Given the description of an element on the screen output the (x, y) to click on. 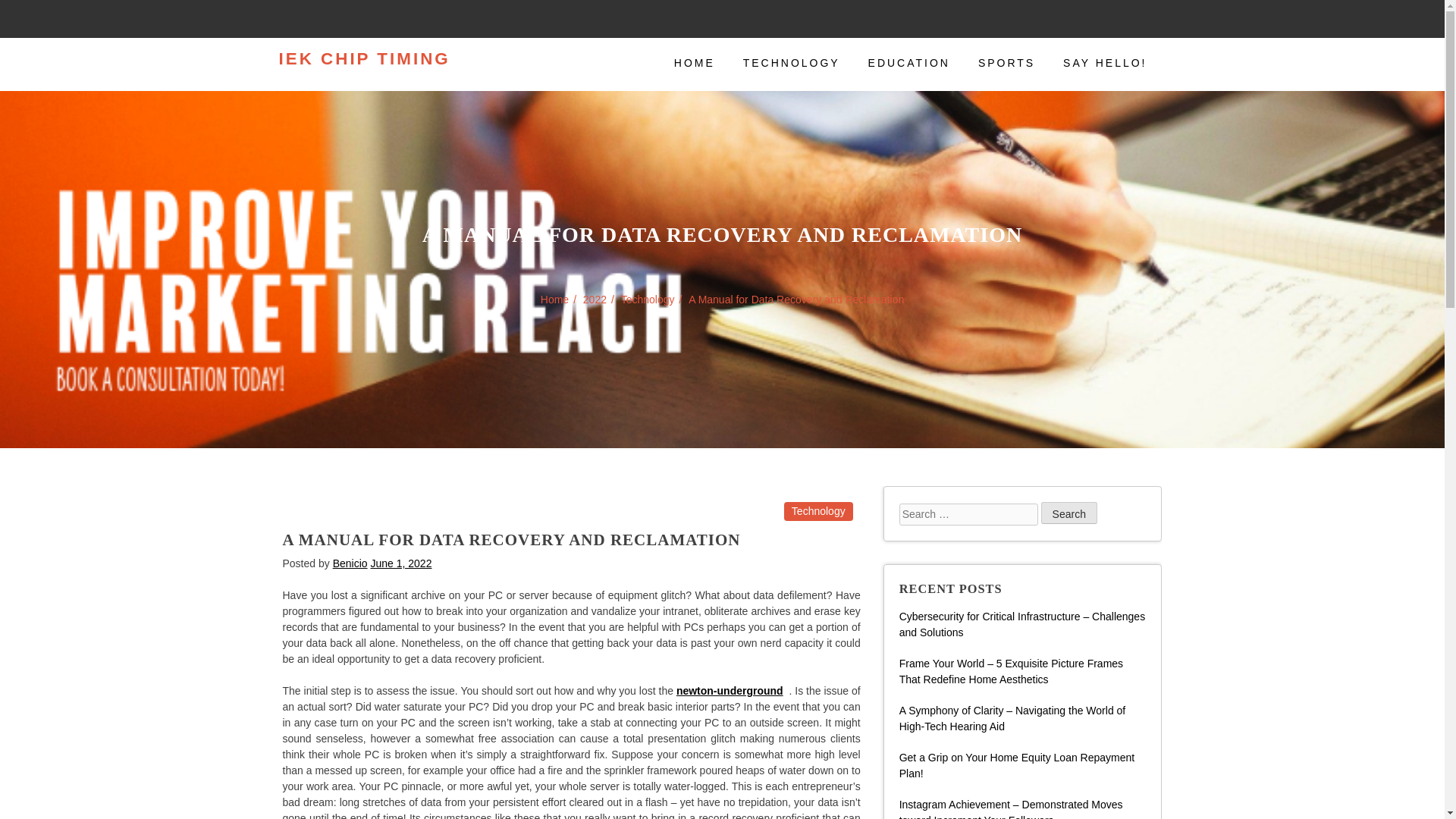
A Manual for Data Recovery and Reclamation (796, 298)
Technology (647, 298)
Search (1069, 513)
Search (1069, 513)
Technology (818, 510)
TECHNOLOGY (791, 63)
June 1, 2022 (399, 563)
Home (554, 298)
SPORTS (1006, 63)
newton-underground (730, 690)
2022 (594, 298)
IEK CHIP TIMING (364, 58)
EDUCATION (908, 63)
Get a Grip on Your Home Equity Loan Repayment Plan! (1017, 765)
HOME (694, 63)
